Given the description of an element on the screen output the (x, y) to click on. 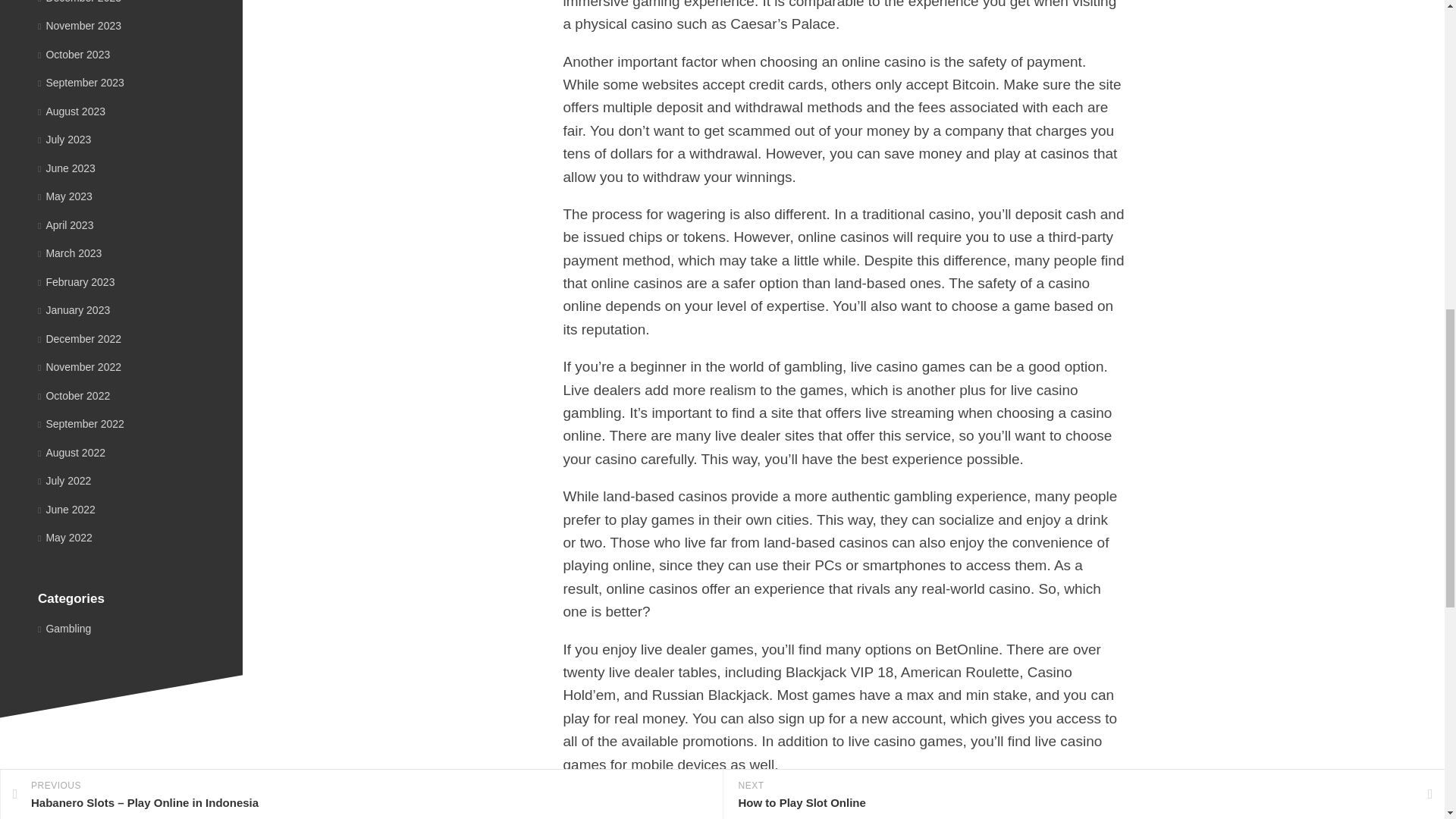
June 2023 (66, 168)
May 2023 (65, 196)
April 2023 (65, 224)
November 2023 (78, 25)
January 2023 (73, 309)
February 2023 (76, 282)
December 2023 (78, 1)
October 2023 (73, 54)
December 2022 (78, 337)
July 2023 (63, 139)
